Given the description of an element on the screen output the (x, y) to click on. 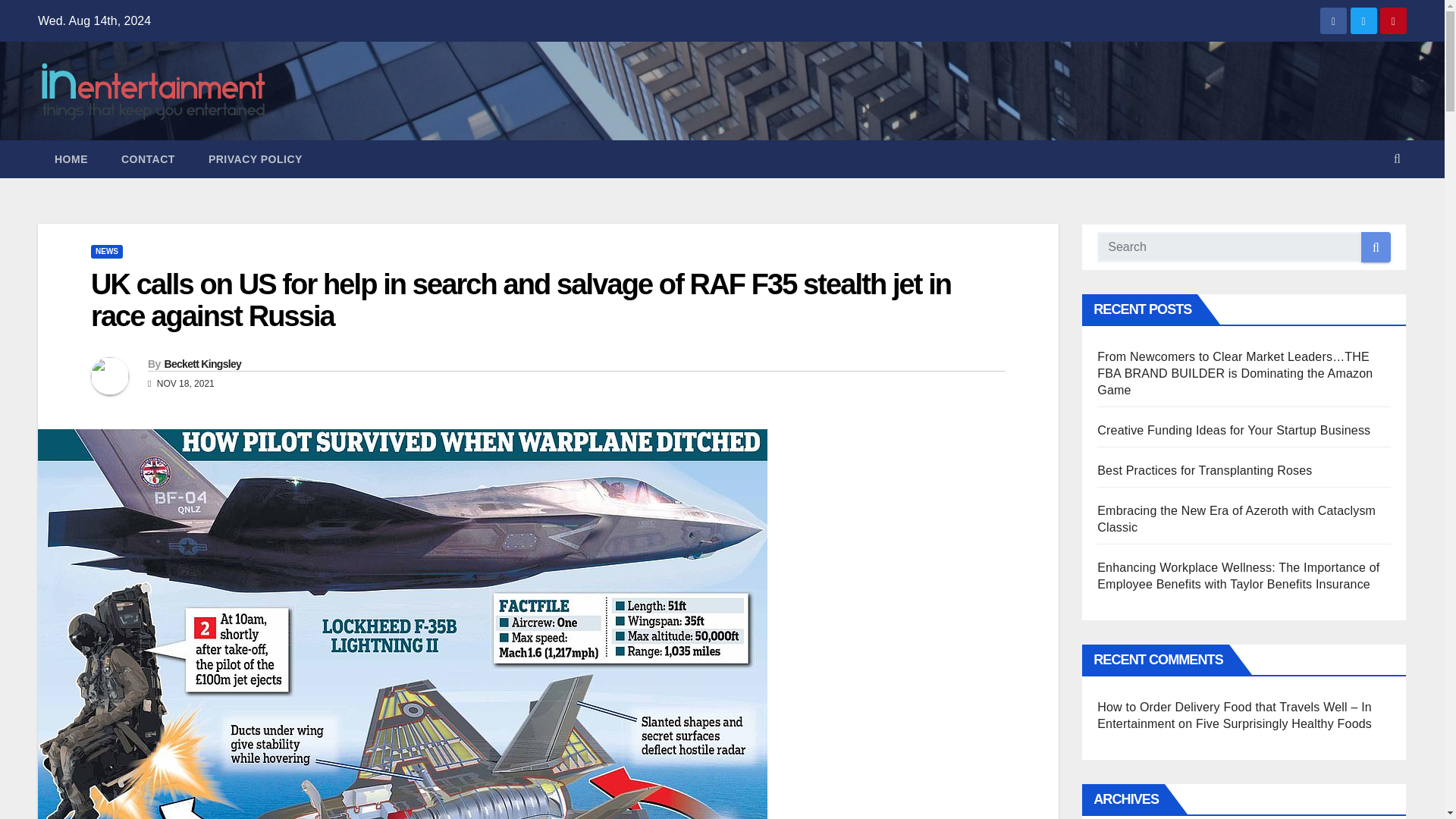
Beckett Kingsley (202, 363)
Embracing the New Era of Azeroth with Cataclysm Classic (1236, 518)
Creative Funding Ideas for Your Startup Business (1233, 430)
CONTACT (148, 159)
HOME (70, 159)
PRIVACY POLICY (255, 159)
Home (70, 159)
NEWS (106, 251)
